Given the description of an element on the screen output the (x, y) to click on. 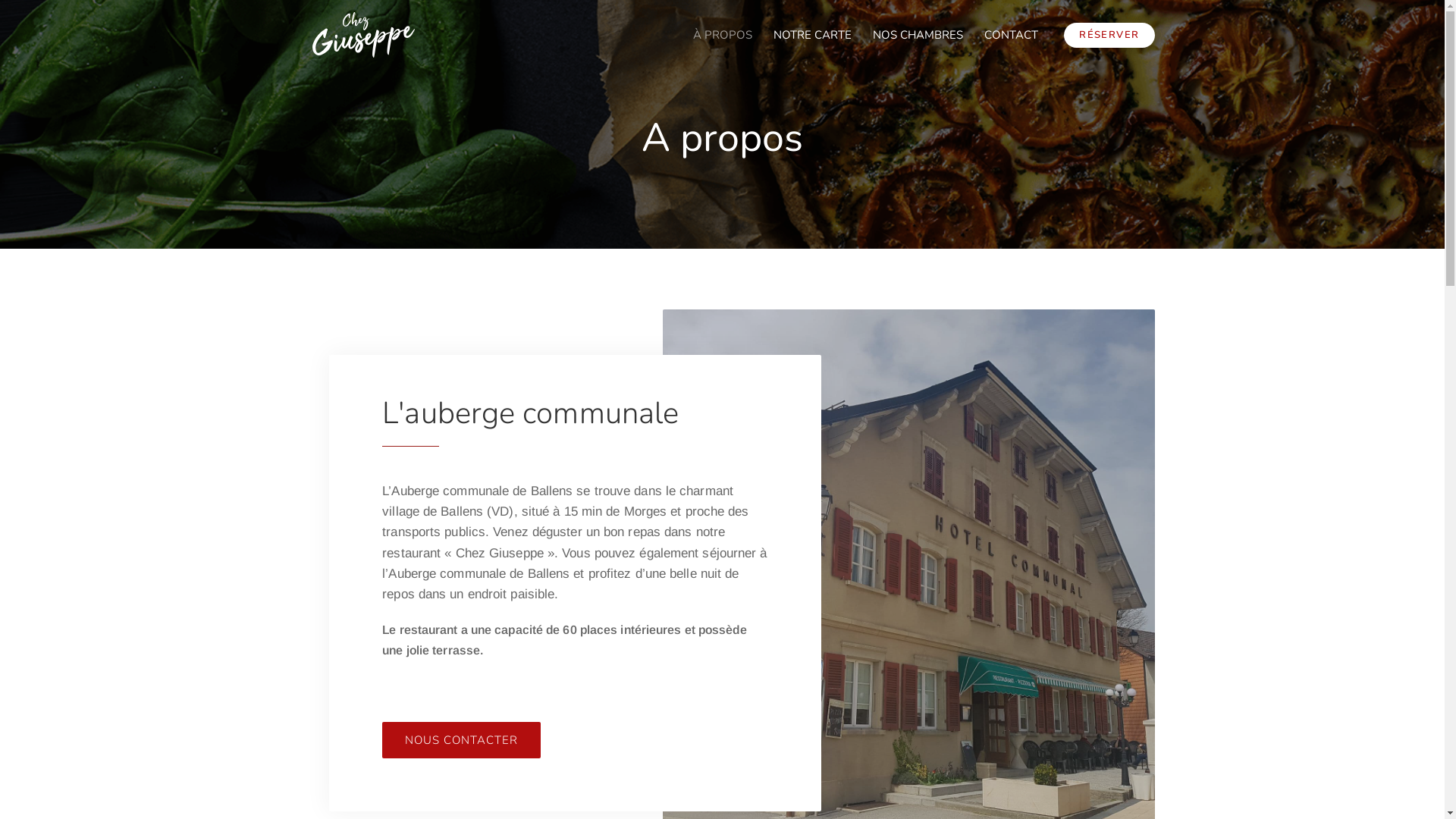
NOUS CONTACTER Element type: text (461, 739)
CONTACT Element type: text (1010, 34)
NOS CHAMBRES Element type: text (917, 34)
NOTRE CARTE Element type: text (812, 34)
